Given the description of an element on the screen output the (x, y) to click on. 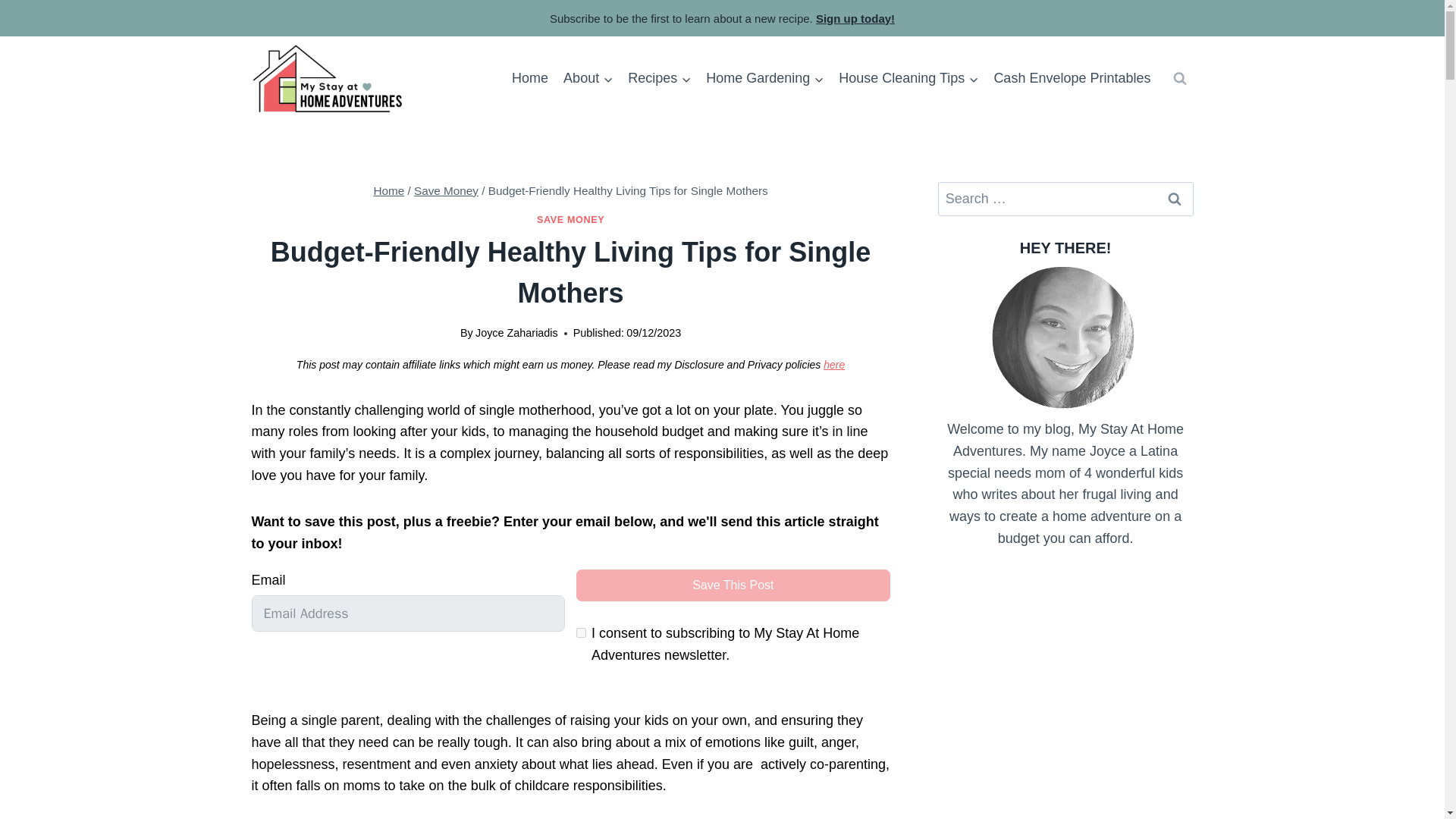
About (588, 78)
Cash Envelope Printables (1071, 78)
here (834, 364)
Save This Post (732, 585)
Sign up today! (855, 18)
Home (388, 190)
Joyce Zahariadis (516, 332)
on (581, 633)
Search (1174, 198)
Home (529, 78)
Recipes (659, 78)
Save Money (446, 190)
Home Gardening (764, 78)
SAVE MONEY (570, 219)
House Cleaning Tips (908, 78)
